Given the description of an element on the screen output the (x, y) to click on. 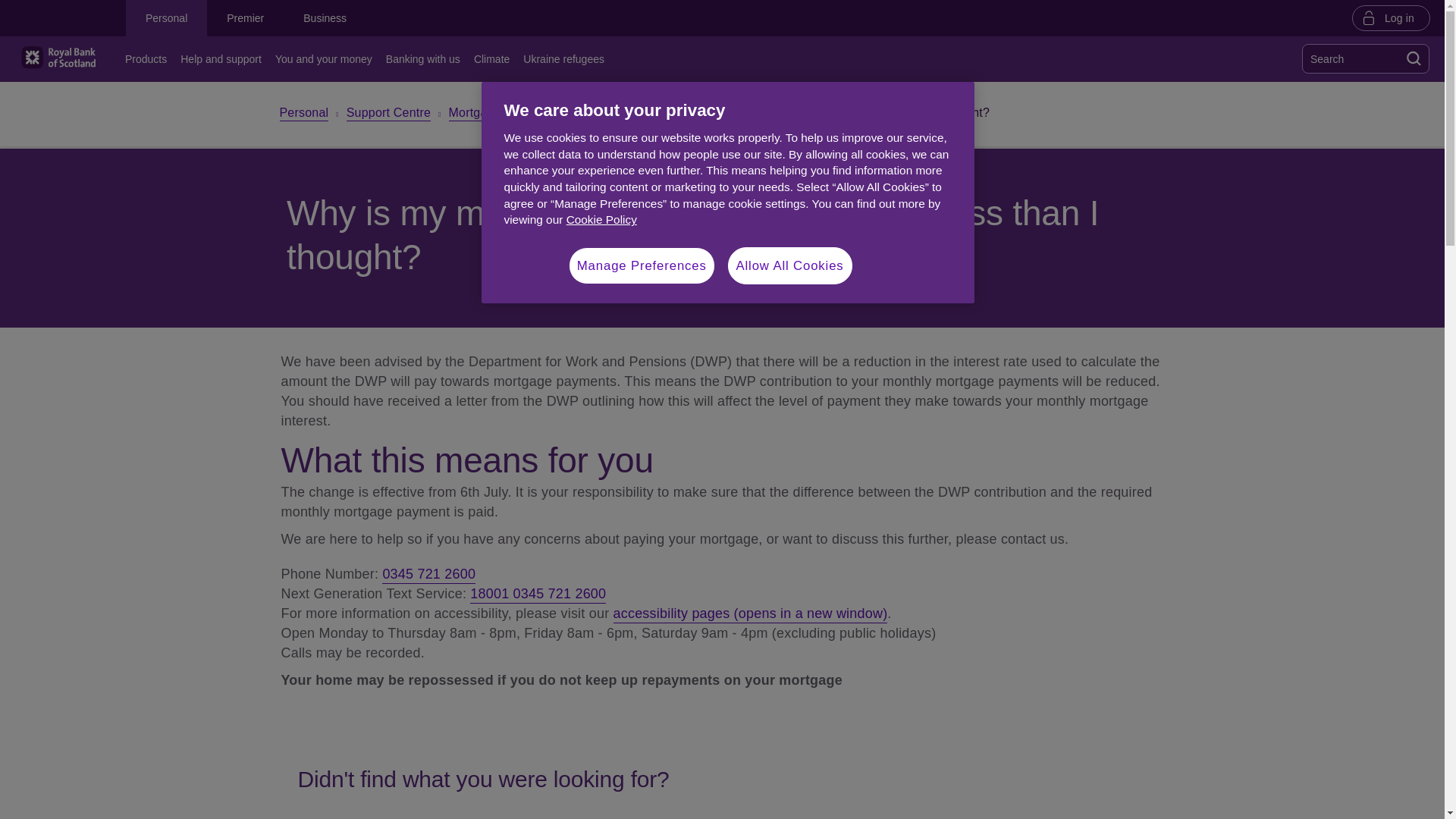
General (604, 114)
Why is my mortgage payment contribution less than I thought? (817, 115)
Log in (1390, 17)
Premier (244, 18)
Mortgages and loans (506, 114)
Products (149, 58)
Personal (304, 114)
Support Centre (388, 114)
Royal Bank of Scotland (57, 58)
